Given the description of an element on the screen output the (x, y) to click on. 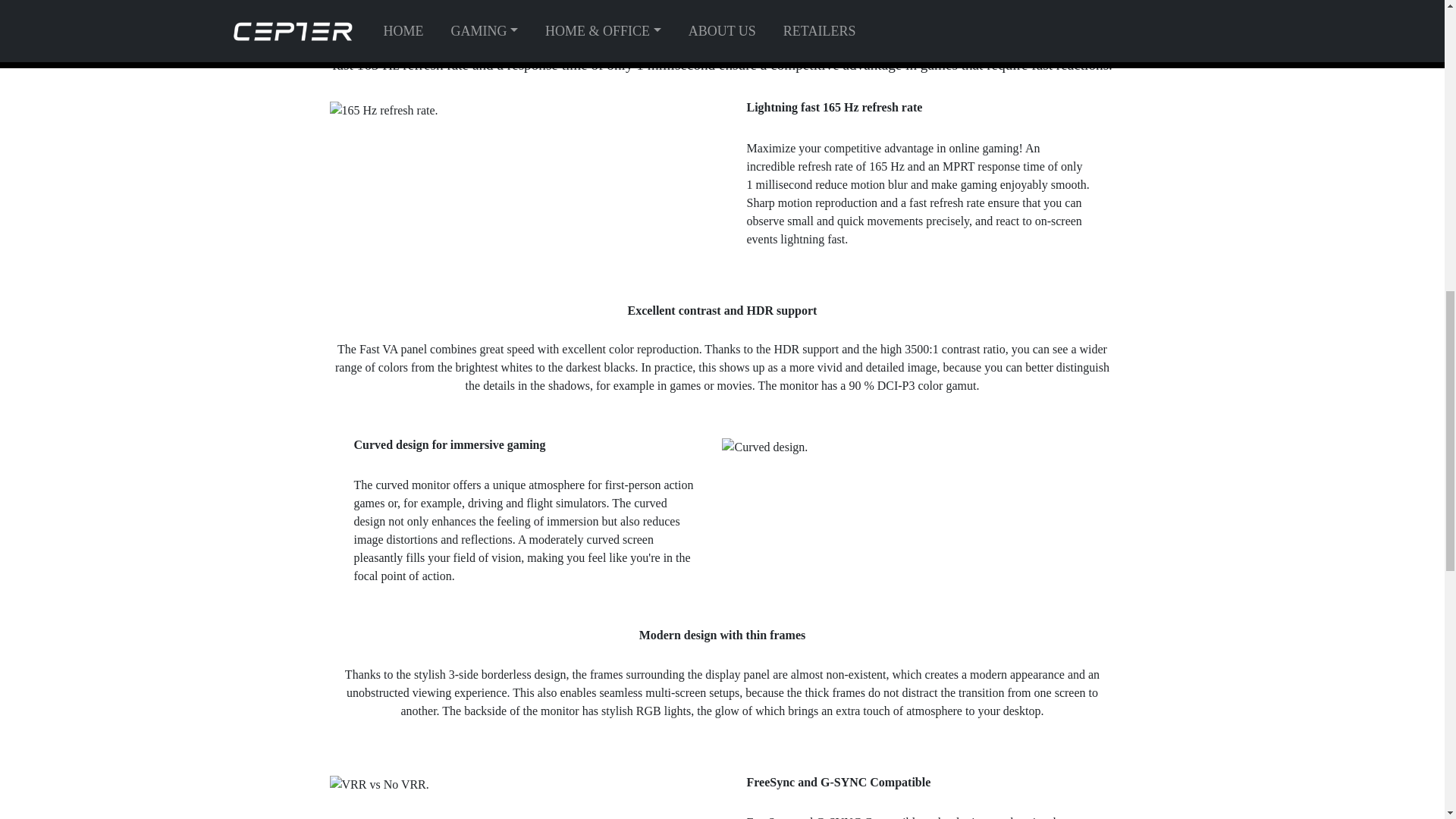
CEPTER ATILIUS 31,5" QHD 165HZ MONITOR (765, 447)
CEPTER ATILIUS 27" QHD 180HZ MONITOR (378, 784)
CEPTER ATILIUS 31,5" QHD 165HZ MONITOR (383, 110)
CEPTER ATILIUS 31,5" QHD 165HZ MONITOR (385, 7)
